Given the description of an element on the screen output the (x, y) to click on. 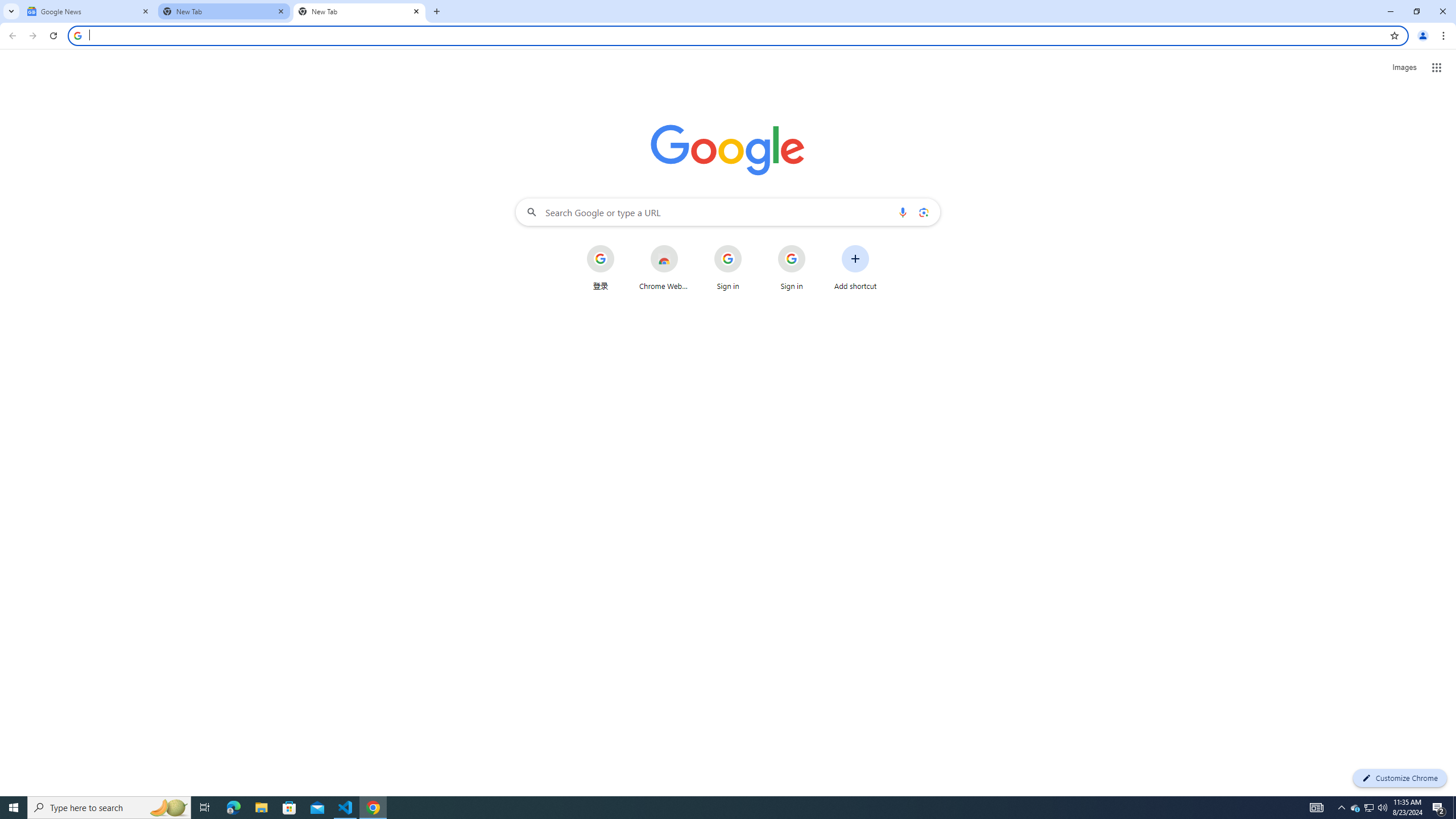
More actions for Sign in shortcut (814, 245)
Customize Chrome (1399, 778)
Search by voice (902, 212)
Google News (88, 11)
Search for Images  (1403, 67)
Add shortcut (855, 267)
